Given the description of an element on the screen output the (x, y) to click on. 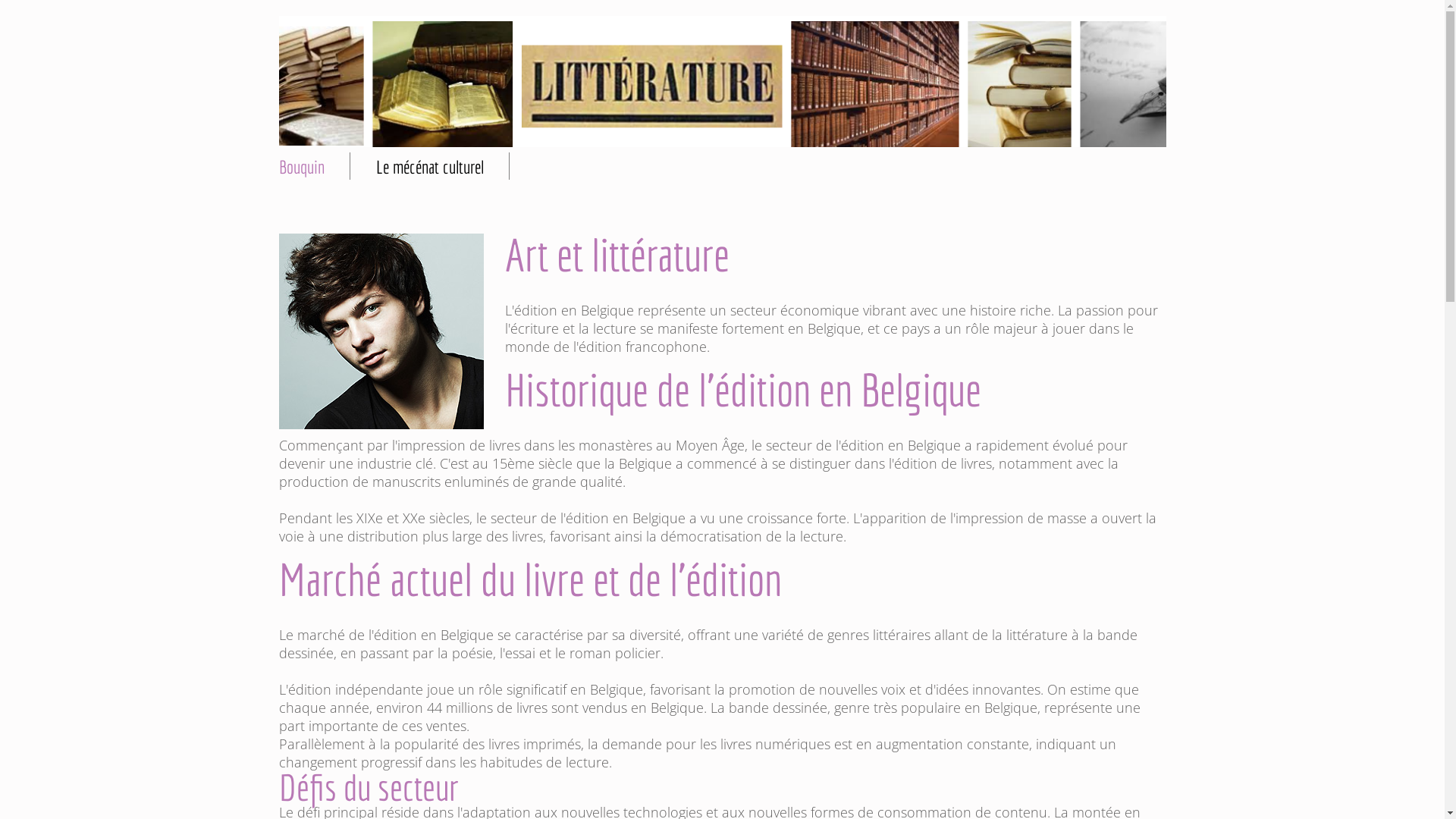
Bouquin Element type: text (301, 166)
